Given the description of an element on the screen output the (x, y) to click on. 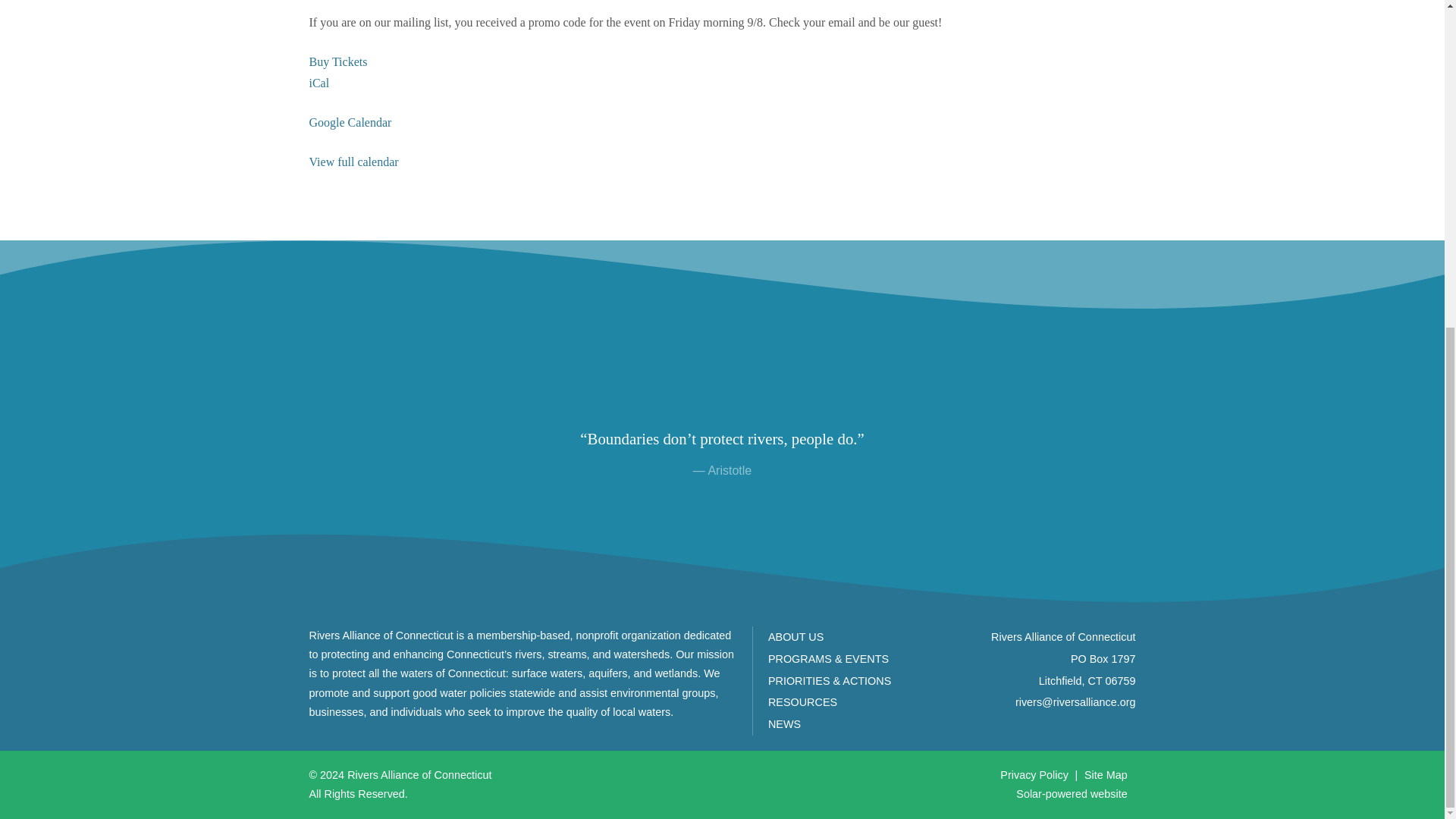
View full calendar (353, 161)
Buy Tickets (338, 61)
Privacy Policy (1034, 775)
ABOUT US (796, 636)
RESOURCES (802, 702)
iCal (319, 82)
Google Calendar (349, 122)
